Given the description of an element on the screen output the (x, y) to click on. 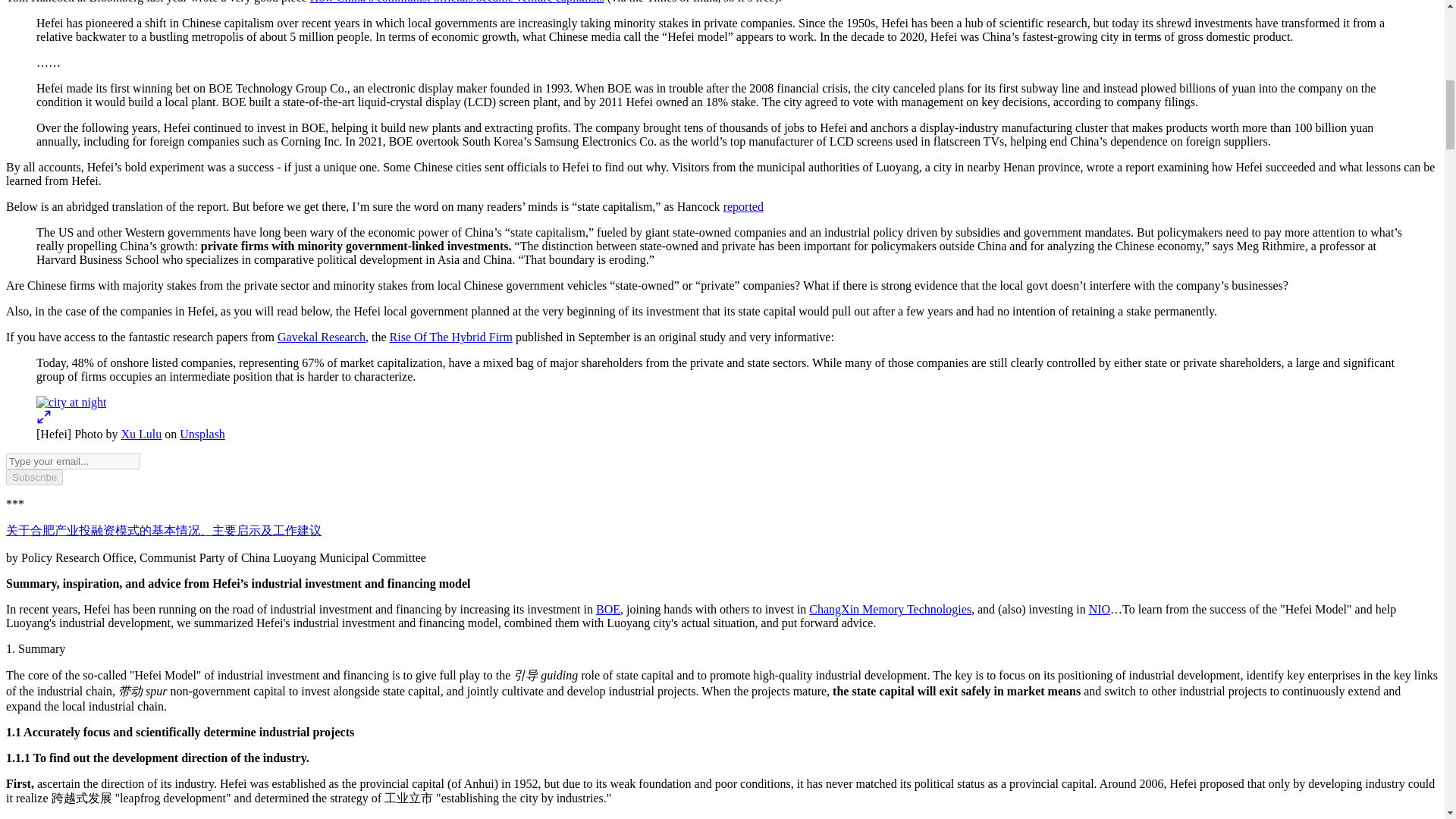
ChangXin Memory Technologies (890, 608)
city at night (71, 402)
reported (742, 205)
Rise Of The Hybrid Firm (451, 336)
BOE (607, 608)
Subscribe (33, 477)
NIO (1099, 608)
Unsplash (202, 433)
Xu Lulu (140, 433)
Gavekal Research (321, 336)
